Given the description of an element on the screen output the (x, y) to click on. 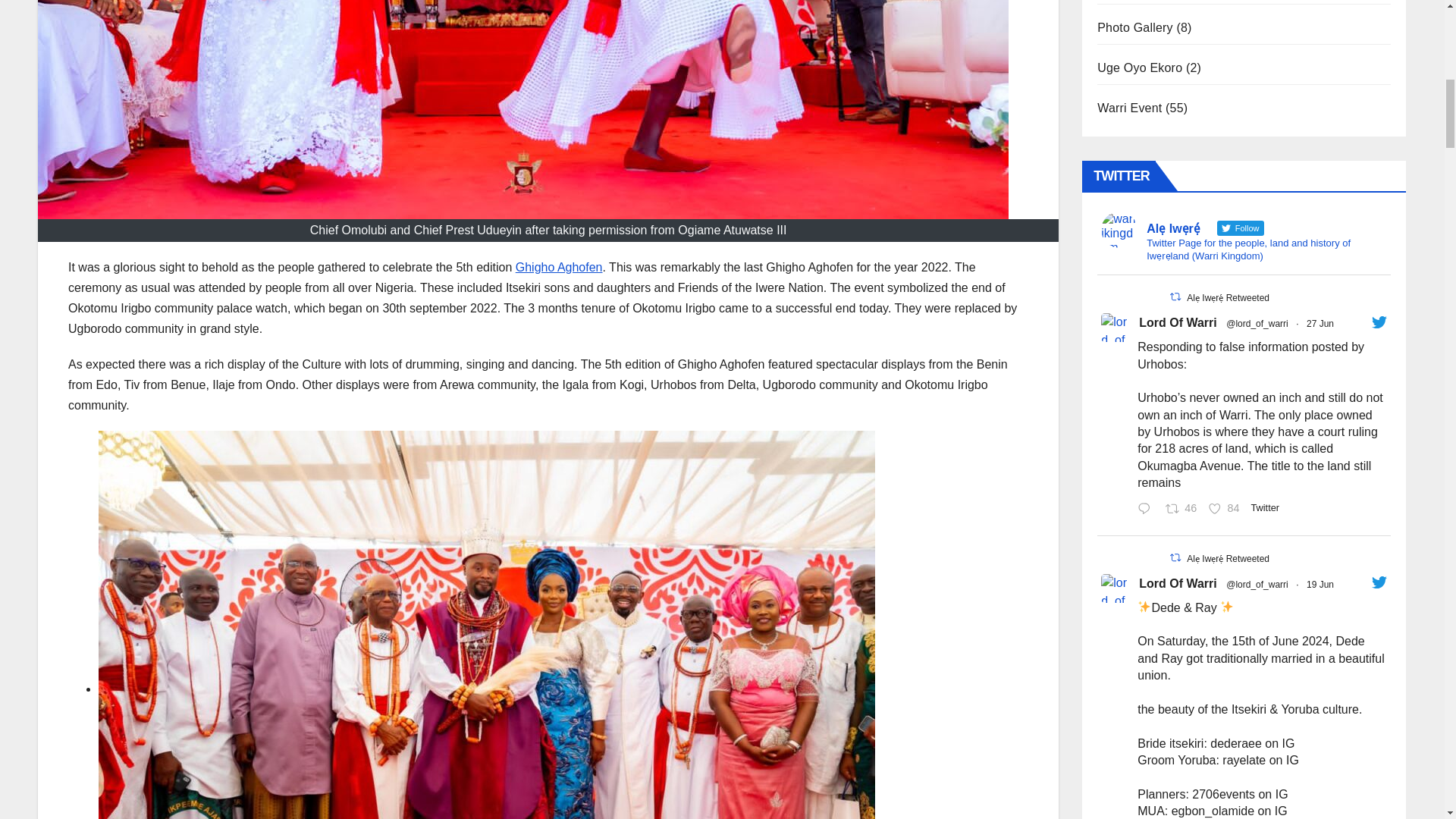
Ghigho Aghofen (558, 267)
